Given the description of an element on the screen output the (x, y) to click on. 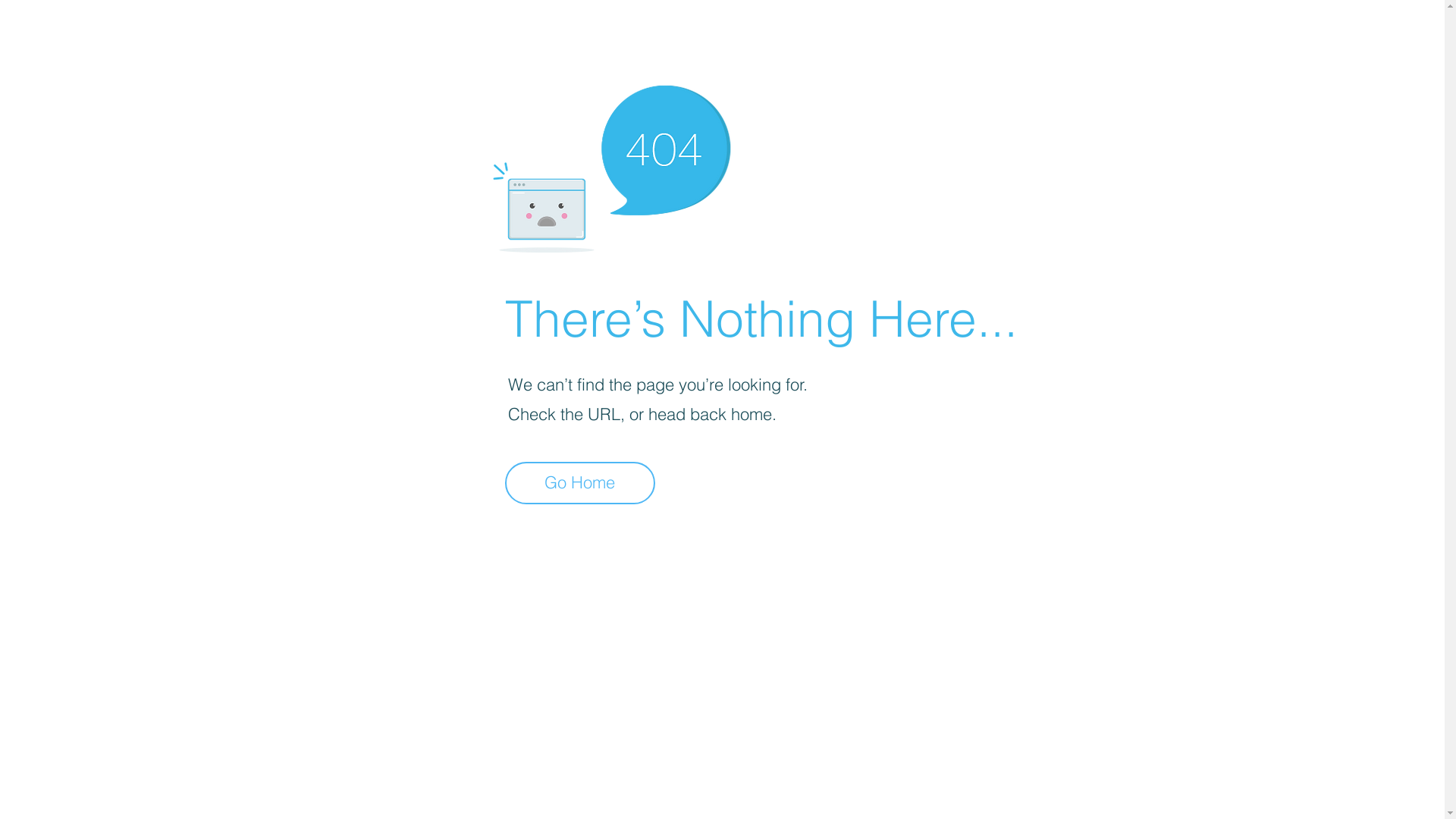
Go Home Element type: text (580, 482)
404-icon_2.png Element type: hover (610, 164)
